Given the description of an element on the screen output the (x, y) to click on. 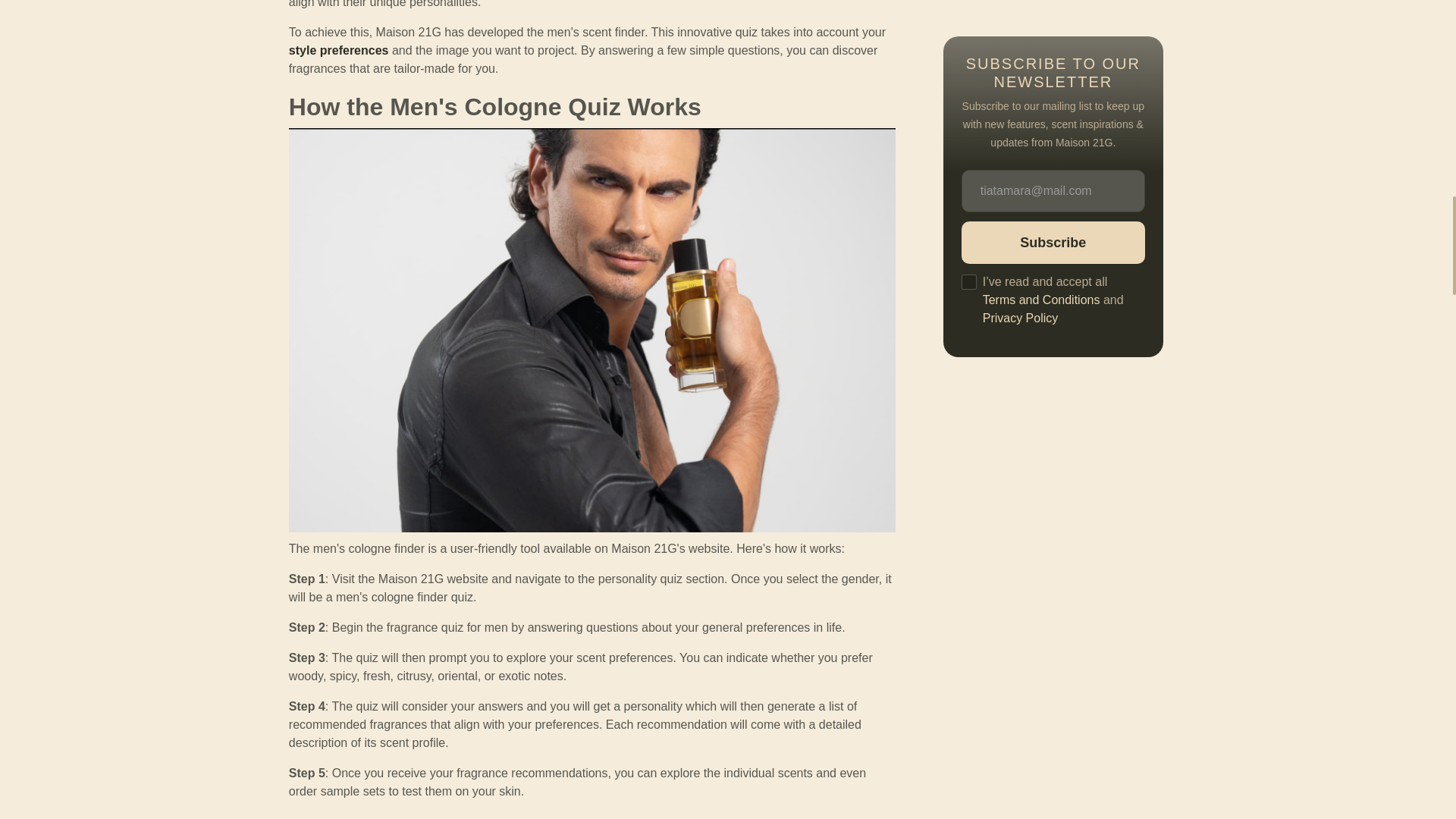
style preferences (338, 50)
